Given the description of an element on the screen output the (x, y) to click on. 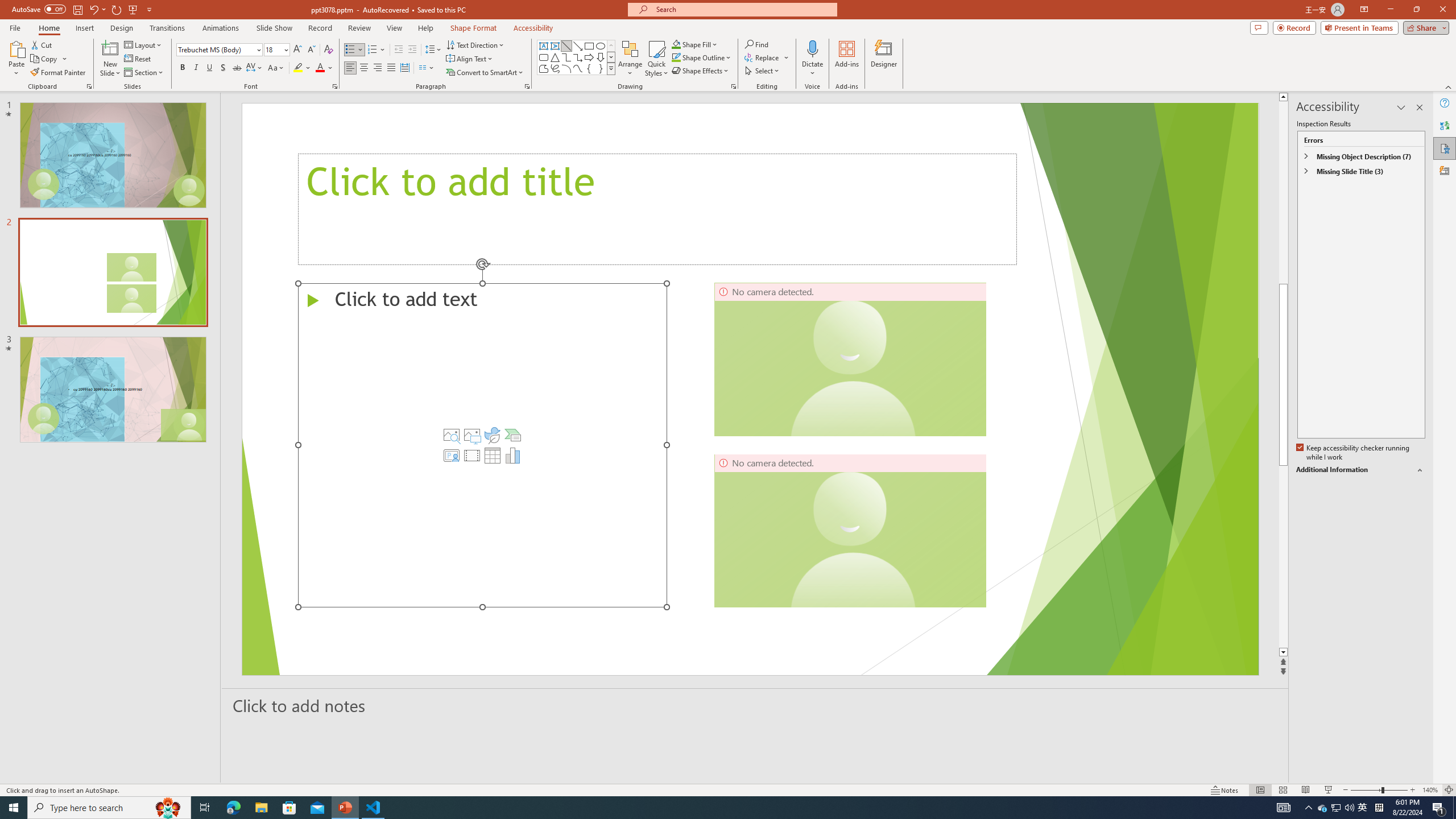
Align Left (349, 67)
Title TextBox (657, 209)
Font Color Red (320, 67)
Page down (1283, 556)
Translator (1444, 125)
Stock Images (451, 434)
Freeform: Scribble (554, 68)
Center (363, 67)
Arc (566, 68)
Line Spacing (433, 49)
